Given the description of an element on the screen output the (x, y) to click on. 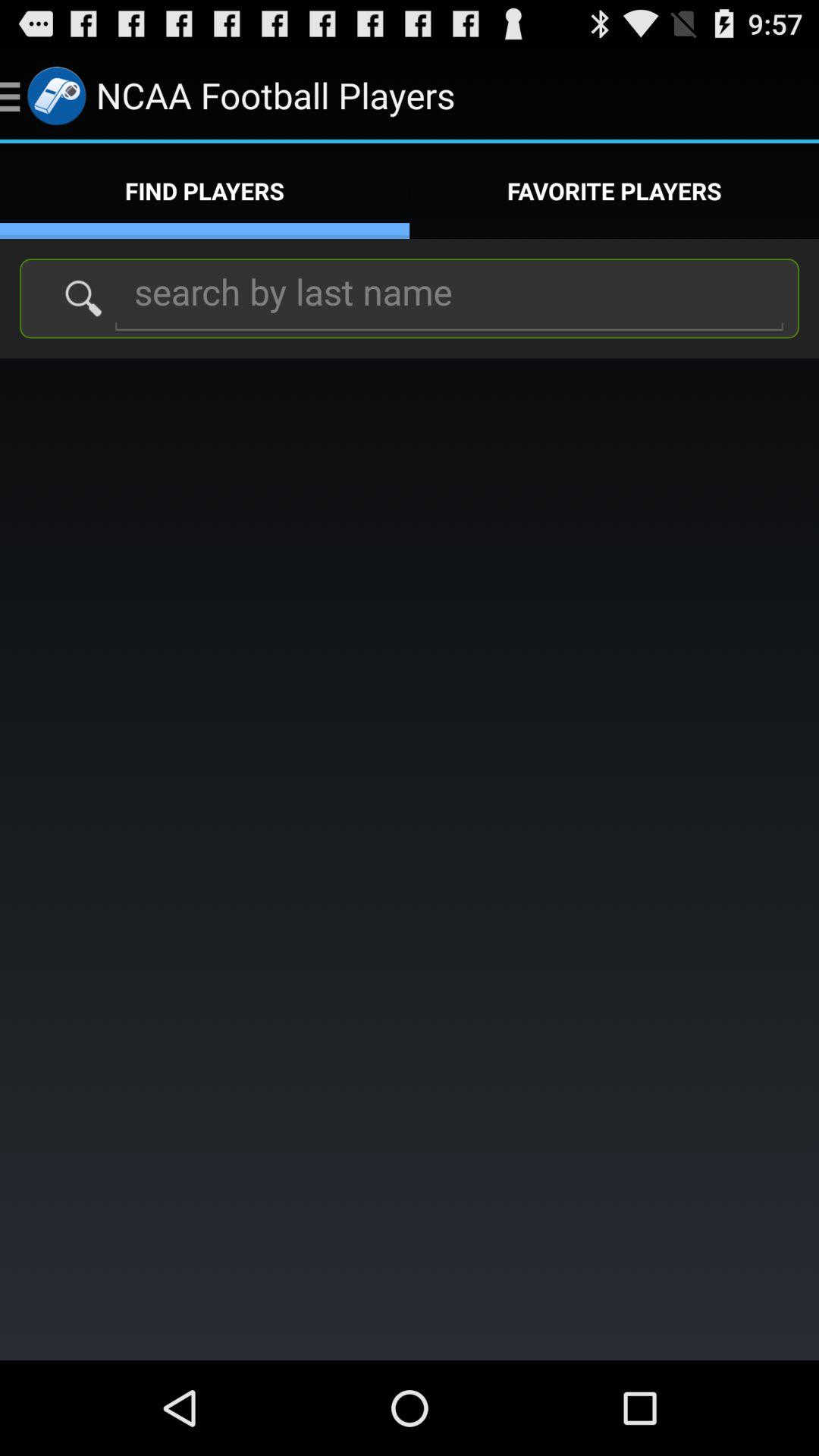
turn off app to the right of find players app (614, 190)
